Given the description of an element on the screen output the (x, y) to click on. 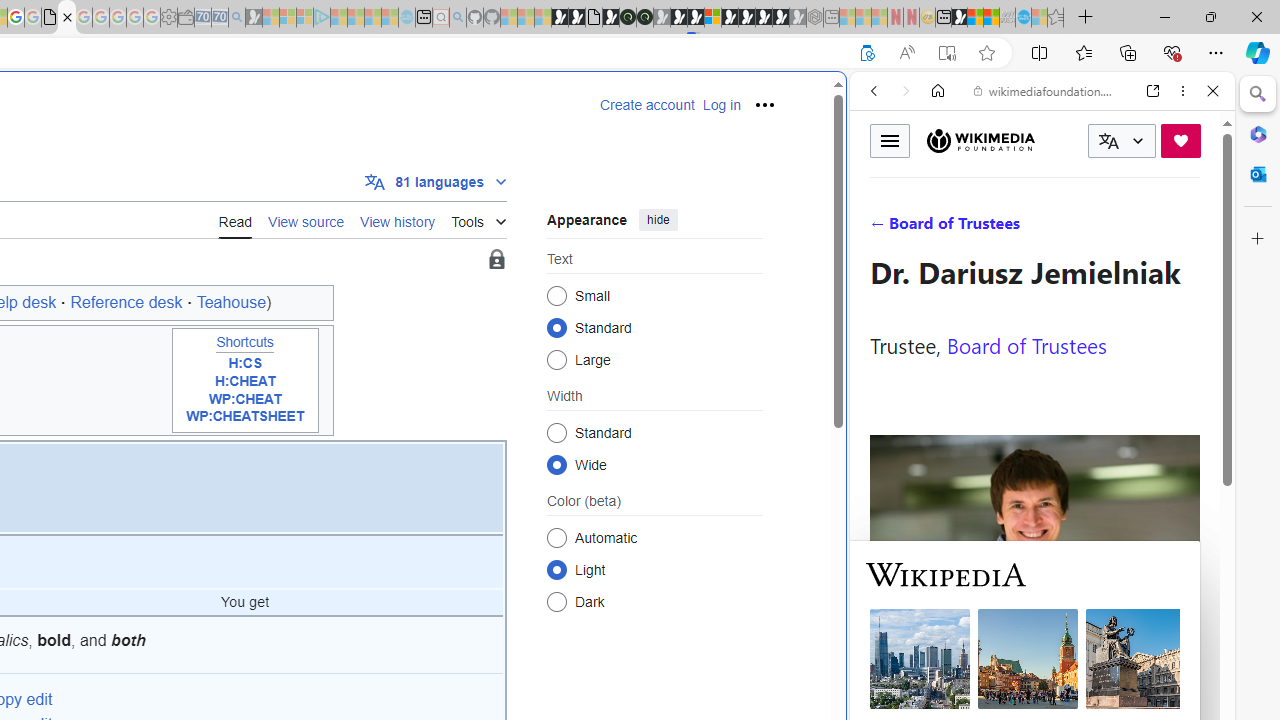
Large (556, 359)
Tabs you've opened (276, 265)
Read (235, 219)
Search or enter web address (343, 191)
WP:CHEATSHEET (244, 416)
Toggle menu (890, 140)
Frequently visited (418, 265)
Teahouse (231, 302)
Standard (556, 431)
Shortcuts (244, 342)
